Given the description of an element on the screen output the (x, y) to click on. 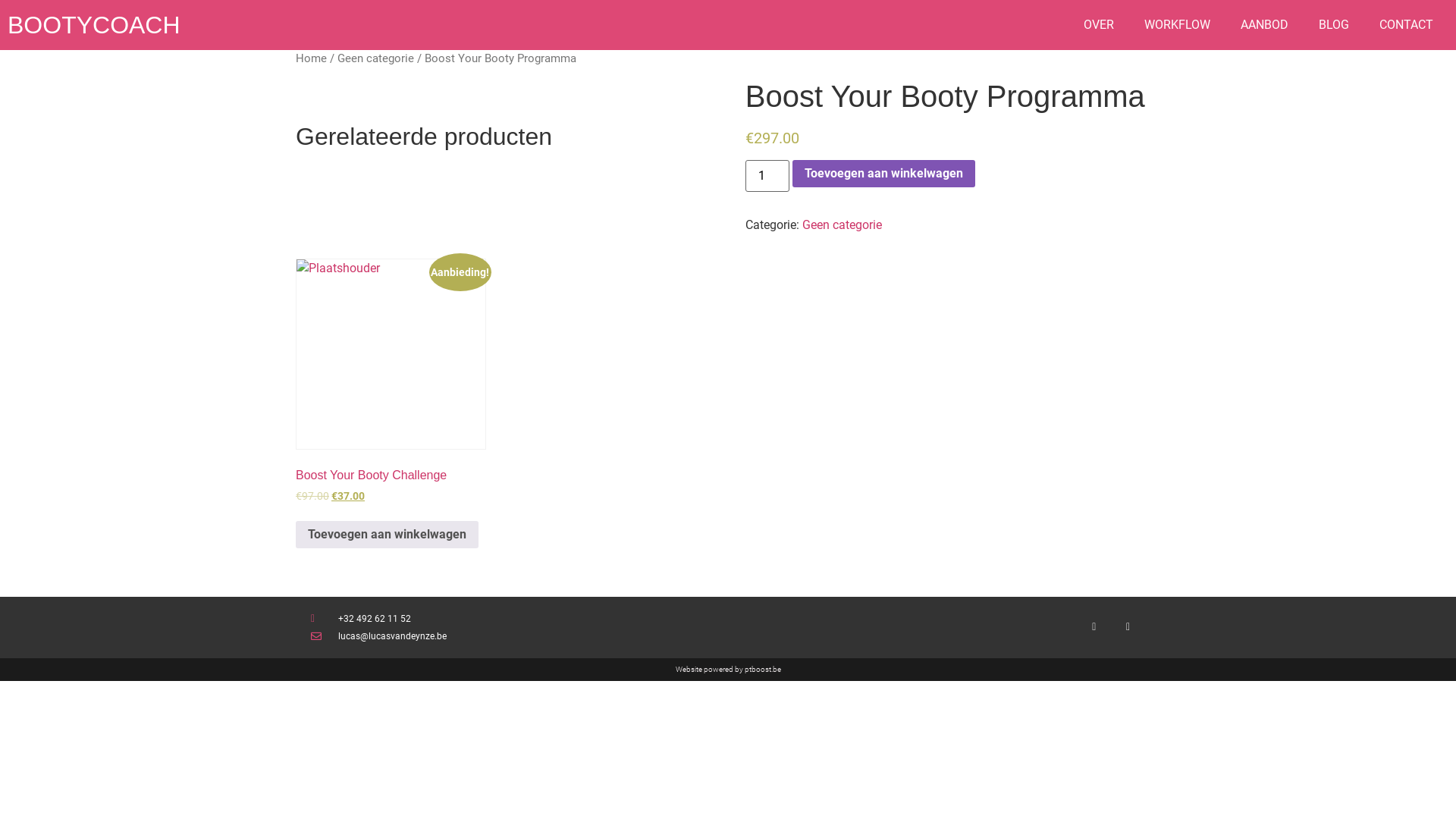
Home Element type: text (310, 58)
AANBOD Element type: text (1264, 24)
BLOG Element type: text (1333, 24)
Toevoegen aan winkelwagen Element type: text (883, 173)
lucas@lucasvandeynze.be Element type: text (519, 636)
Geen categorie Element type: text (375, 58)
Toevoegen aan winkelwagen Element type: text (386, 534)
BOOTYCOACH Element type: text (93, 24)
CONTACT Element type: text (1406, 24)
Geen categorie Element type: text (841, 224)
WORKFLOW Element type: text (1177, 24)
OVER Element type: text (1098, 24)
Website powered by ptboost.be Element type: text (727, 669)
